Given the description of an element on the screen output the (x, y) to click on. 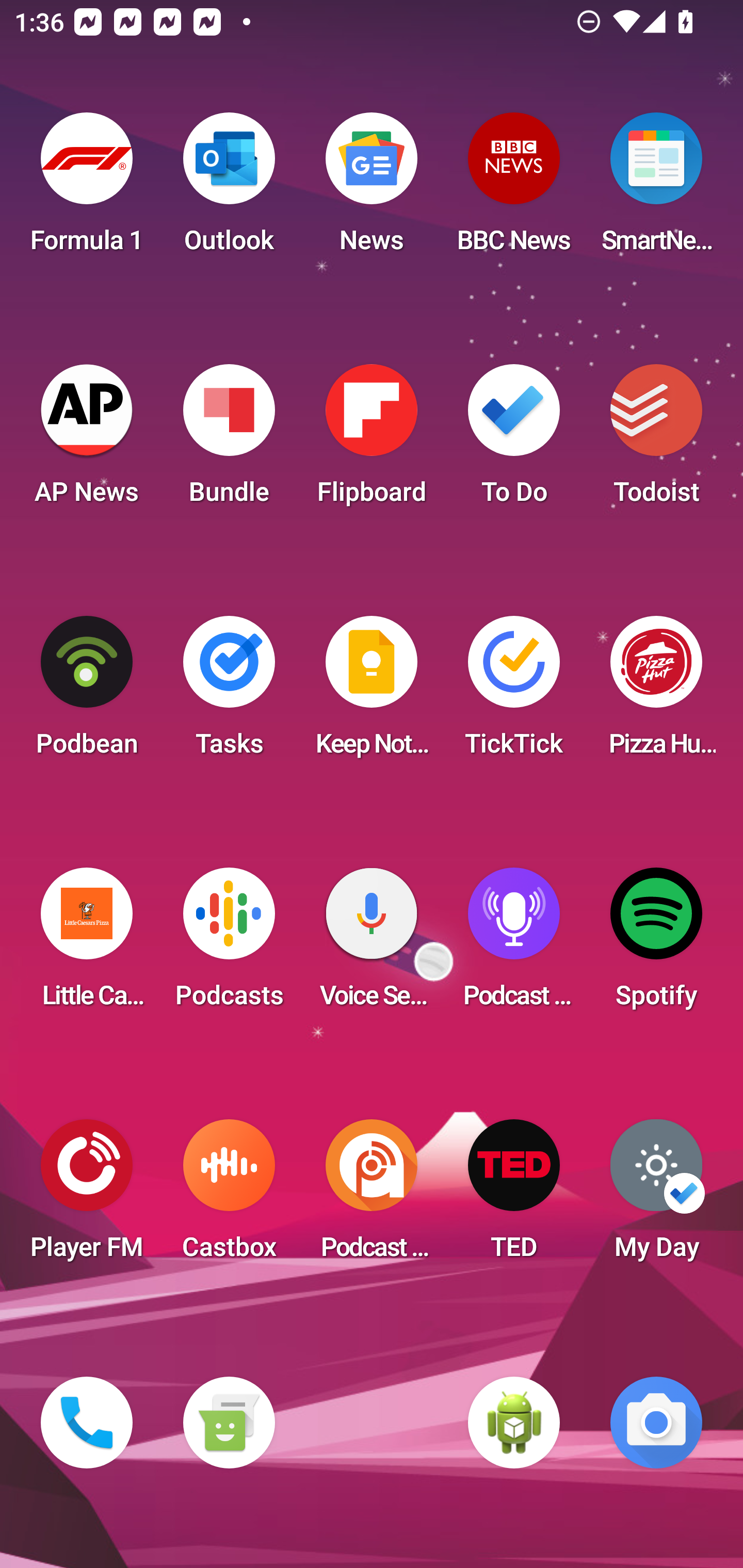
Formula 1 (86, 188)
Outlook (228, 188)
News (371, 188)
BBC News (513, 188)
SmartNews (656, 188)
AP News (86, 440)
Bundle (228, 440)
Flipboard (371, 440)
To Do (513, 440)
Todoist (656, 440)
Podbean (86, 692)
Tasks (228, 692)
Keep Notes (371, 692)
TickTick (513, 692)
Pizza Hut HK & Macau (656, 692)
Little Caesars Pizza (86, 943)
Podcasts (228, 943)
Voice Search (371, 943)
Podcast Player (513, 943)
Spotify (656, 943)
Player FM (86, 1195)
Castbox (228, 1195)
Podcast Addict (371, 1195)
TED (513, 1195)
My Day (656, 1195)
Phone (86, 1422)
Messaging (228, 1422)
WebView Browser Tester (513, 1422)
Camera (656, 1422)
